Given the description of an element on the screen output the (x, y) to click on. 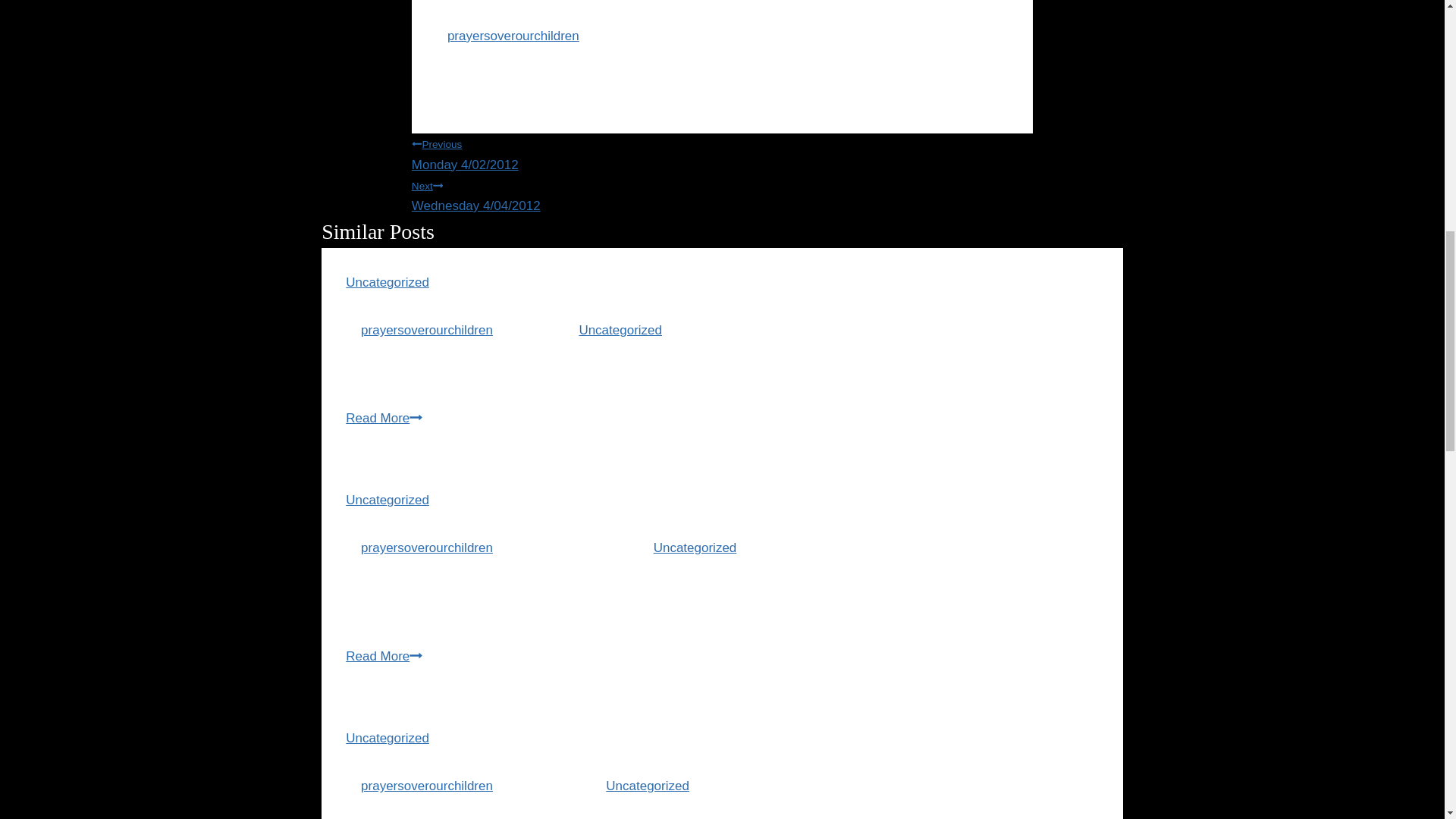
prayersoverourchildren (427, 547)
Uncategorized (694, 547)
prayersoverourchildren (427, 785)
prayersoverourchildren (427, 329)
Uncategorized (387, 282)
prayersoverourchildren (512, 35)
Uncategorized (387, 499)
Uncategorized (387, 738)
Uncategorized (646, 785)
Uncategorized (620, 329)
